Given the description of an element on the screen output the (x, y) to click on. 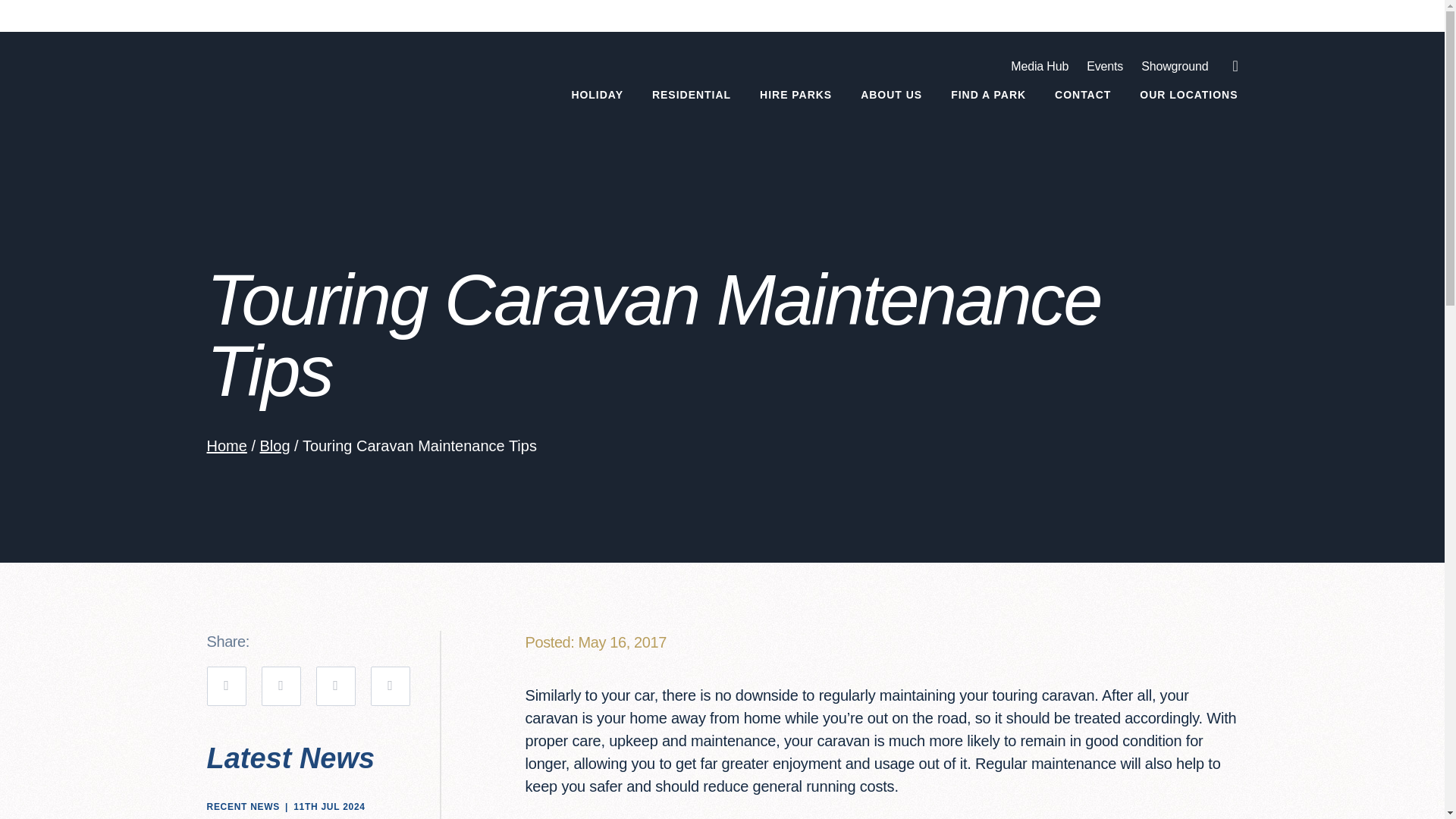
Home (226, 445)
OUR LOCATIONS (1188, 94)
Showground (1174, 65)
RECENT NEWS (242, 807)
HIRE PARKS (795, 94)
CONTACT (1082, 94)
Blog (274, 445)
FIND A PARK (988, 94)
HOLIDAY (596, 94)
ABOUT US (890, 94)
RESIDENTIAL (691, 94)
Events (1104, 65)
Media Hub (1039, 65)
